Given the description of an element on the screen output the (x, y) to click on. 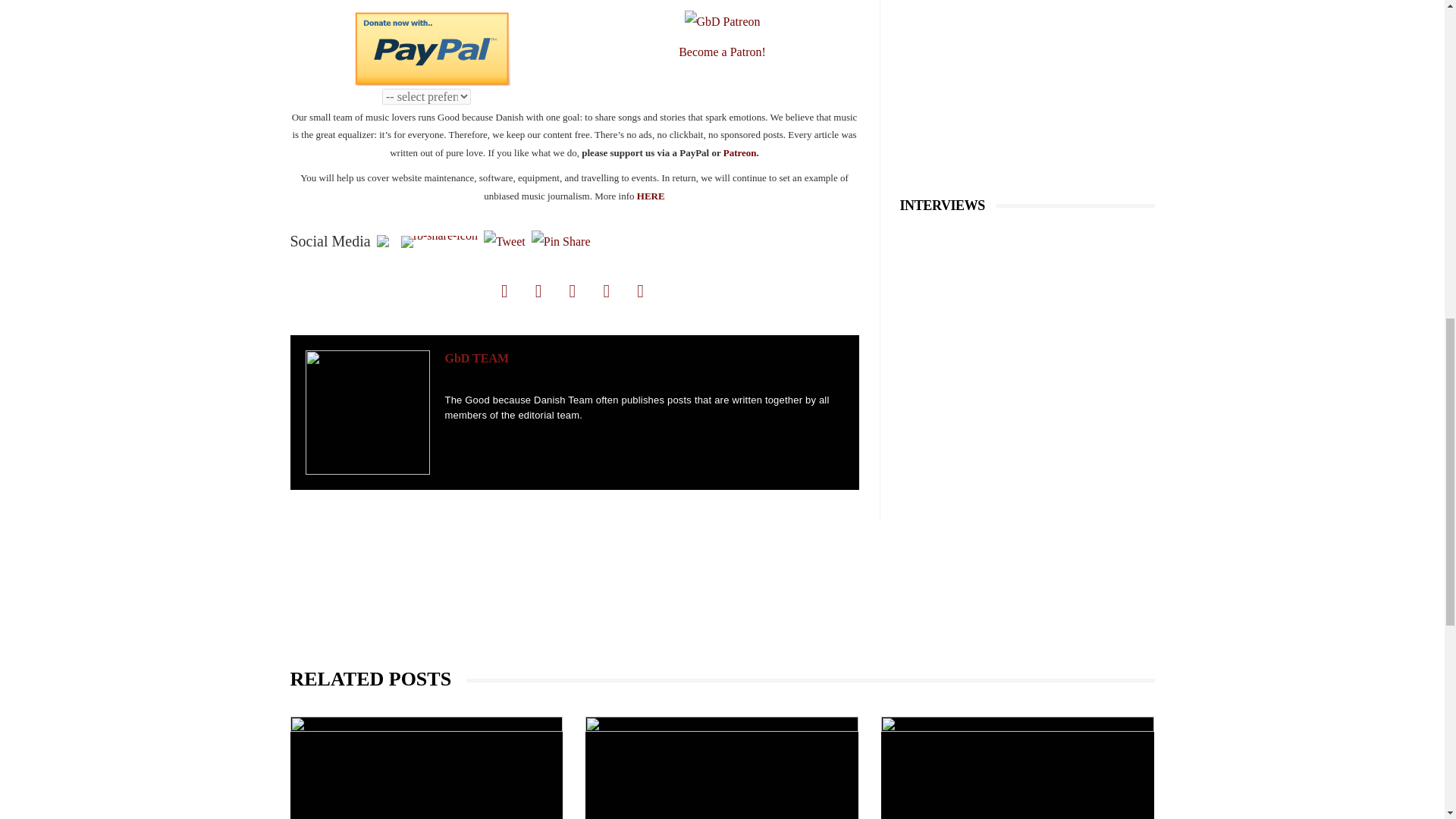
Tweet (504, 241)
Facebook Share (439, 241)
Pin Share (561, 241)
